Given the description of an element on the screen output the (x, y) to click on. 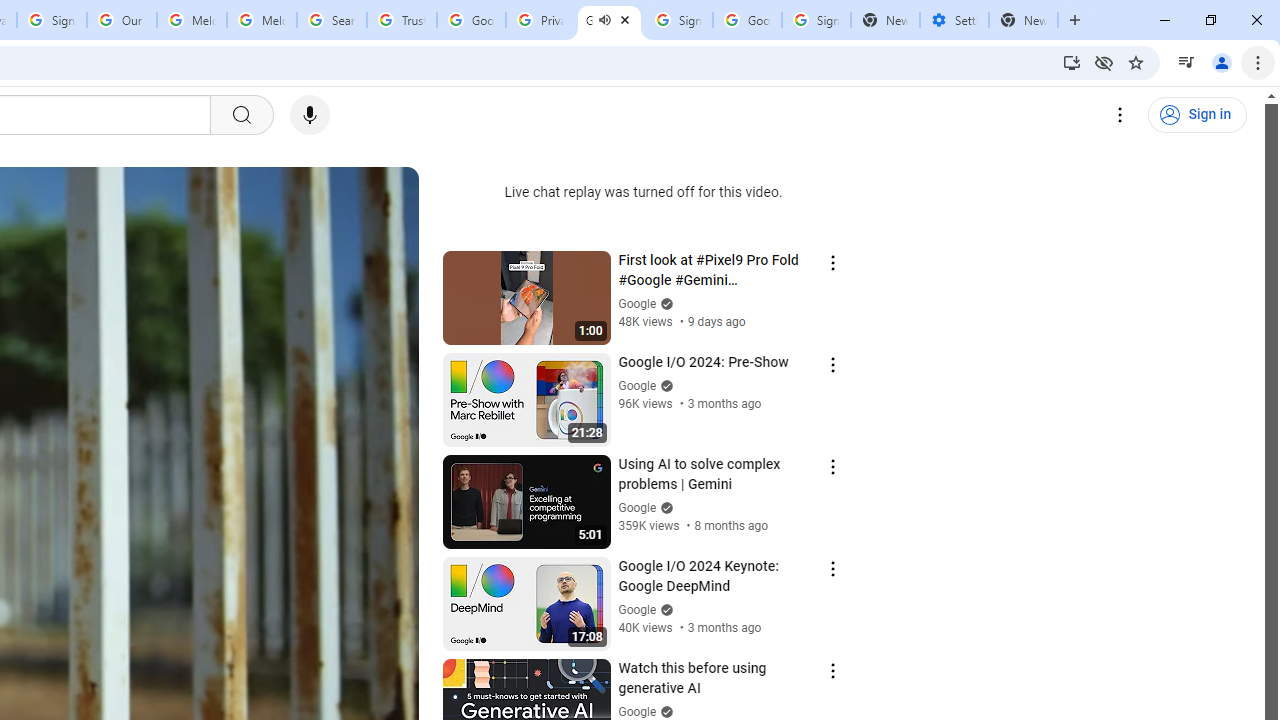
Trusted Information and Content - Google Safety Center (401, 20)
Search with your voice (309, 115)
Sign in - Google Accounts (816, 20)
Install YouTube (1071, 62)
Sign in - Google Accounts (677, 20)
Settings - Addresses and more (954, 20)
Search our Doodle Library Collection - Google Doodles (332, 20)
Google Cybersecurity Innovations - Google Safety Center (747, 20)
